Given the description of an element on the screen output the (x, y) to click on. 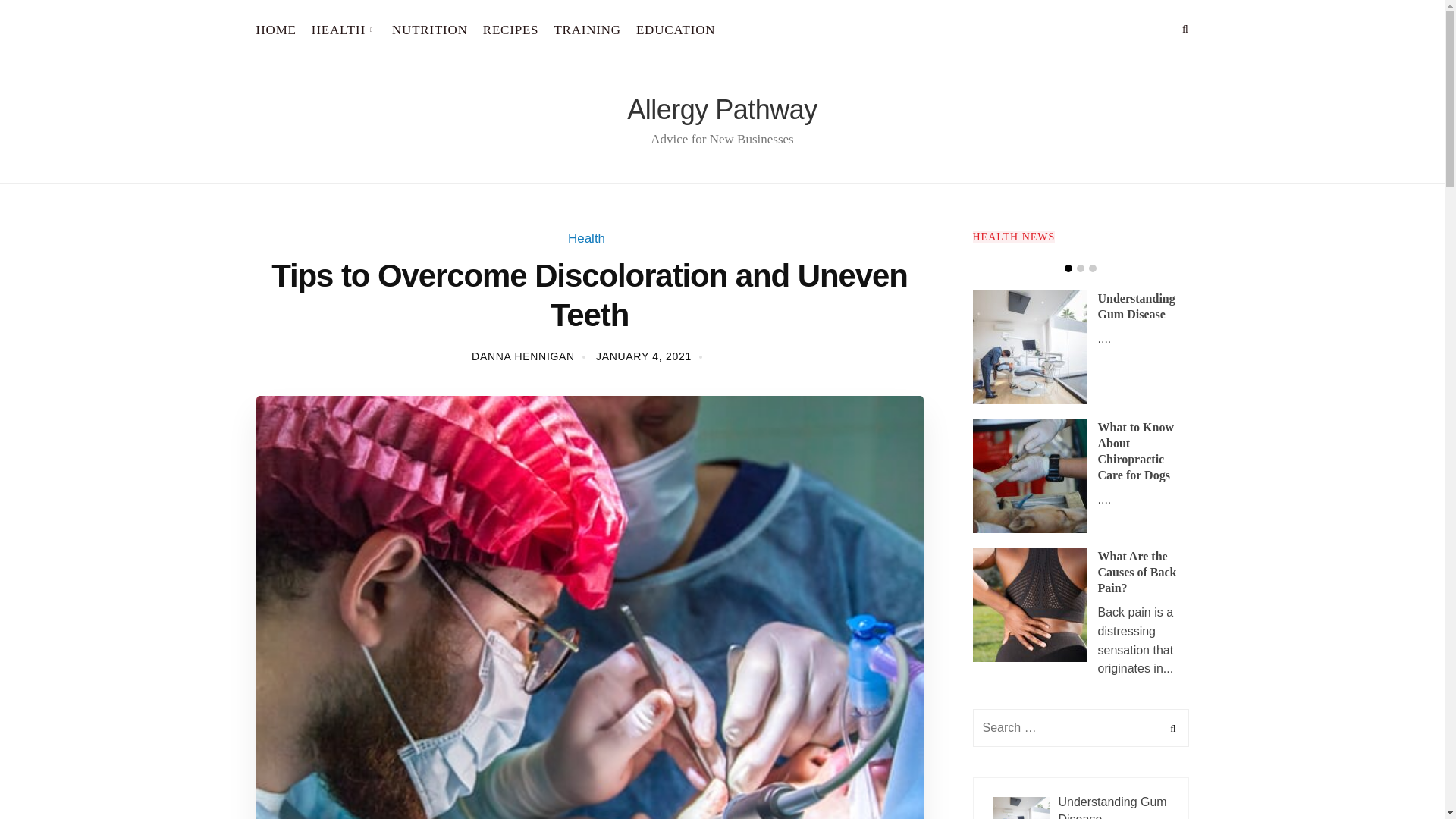
What to Know About Chiropractic Care for Dogs (1135, 450)
NUTRITION (430, 30)
JANUARY 4, 2021 (643, 356)
Allergy Pathway (721, 109)
Search (1171, 727)
HEALTH (344, 30)
Understanding Gum Disease (1135, 306)
Health (586, 237)
TRAINING (587, 30)
Search (1171, 727)
